Given the description of an element on the screen output the (x, y) to click on. 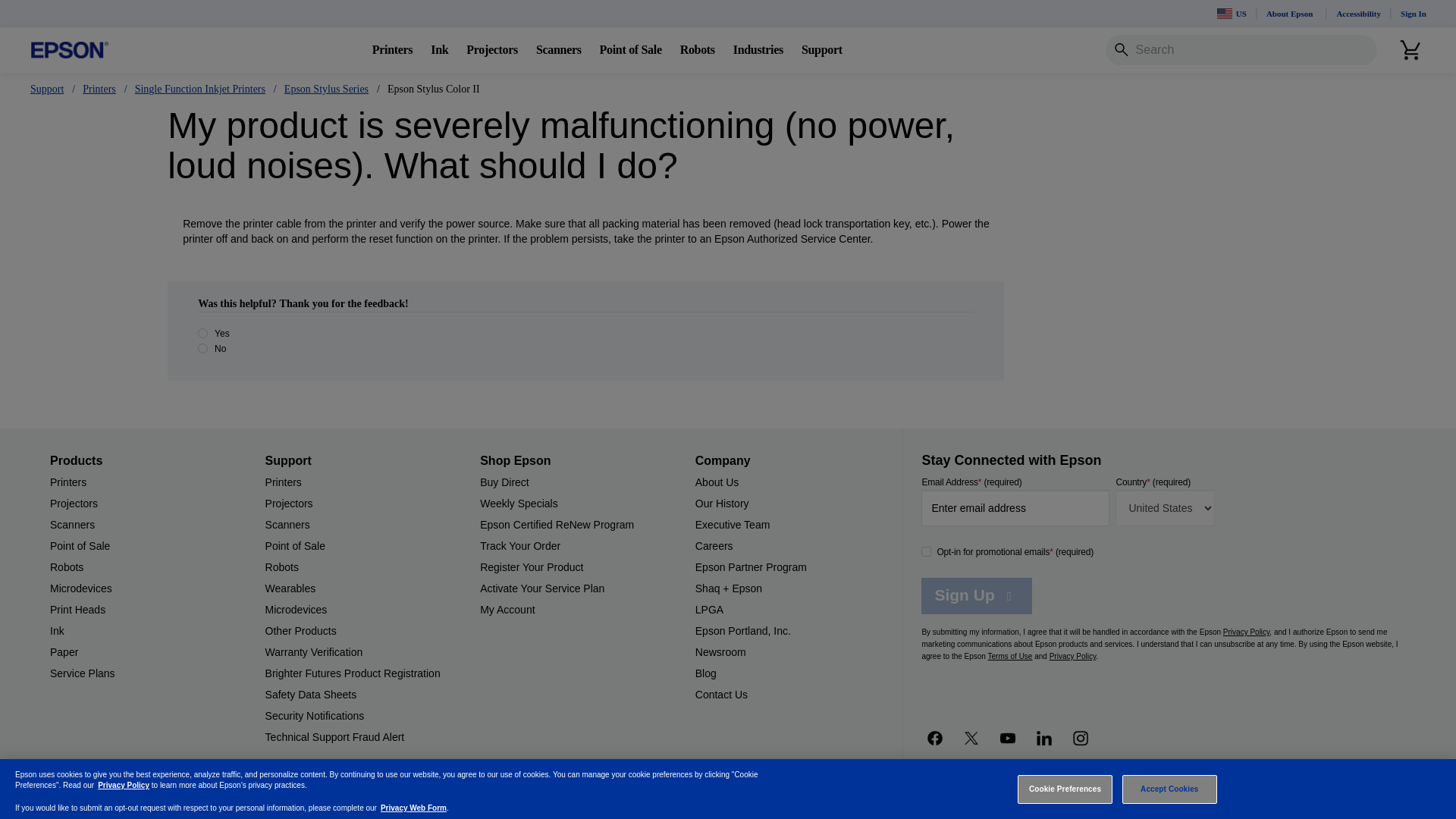
Sign In (1413, 13)
no (203, 347)
Sign In (1413, 13)
yes (203, 333)
Accessibility (1358, 13)
on (926, 551)
Accessibility (1358, 13)
US (1231, 13)
Epson Logo (69, 49)
US (1231, 13)
